Given the description of an element on the screen output the (x, y) to click on. 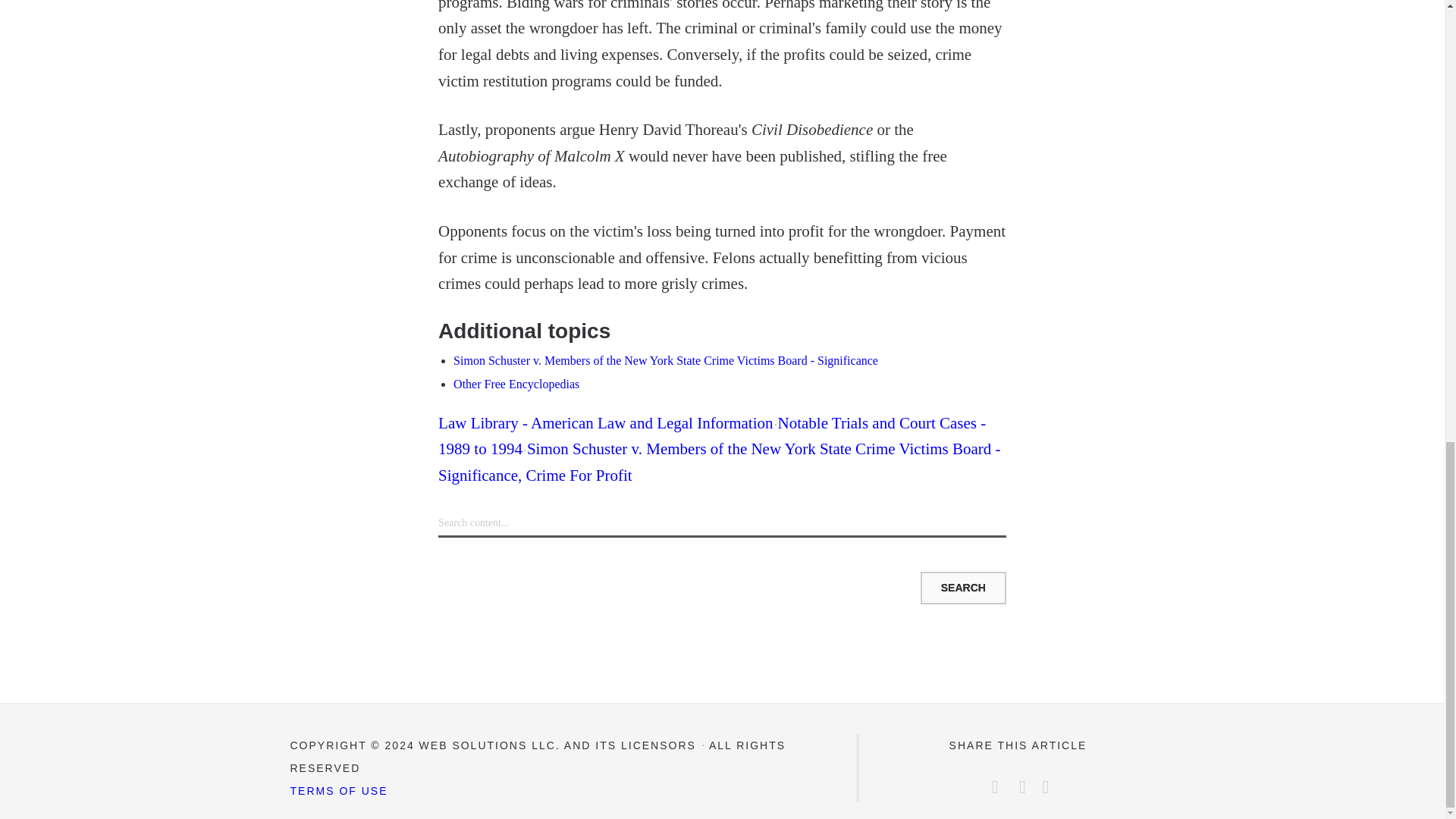
Search (963, 587)
TERMS OF USE (338, 790)
Law Library - American Law and Legal Information (605, 423)
Notable Trials and Court Cases - 1989 to 1994 (711, 436)
Other Free Encyclopedias (515, 383)
Search (963, 587)
